Given the description of an element on the screen output the (x, y) to click on. 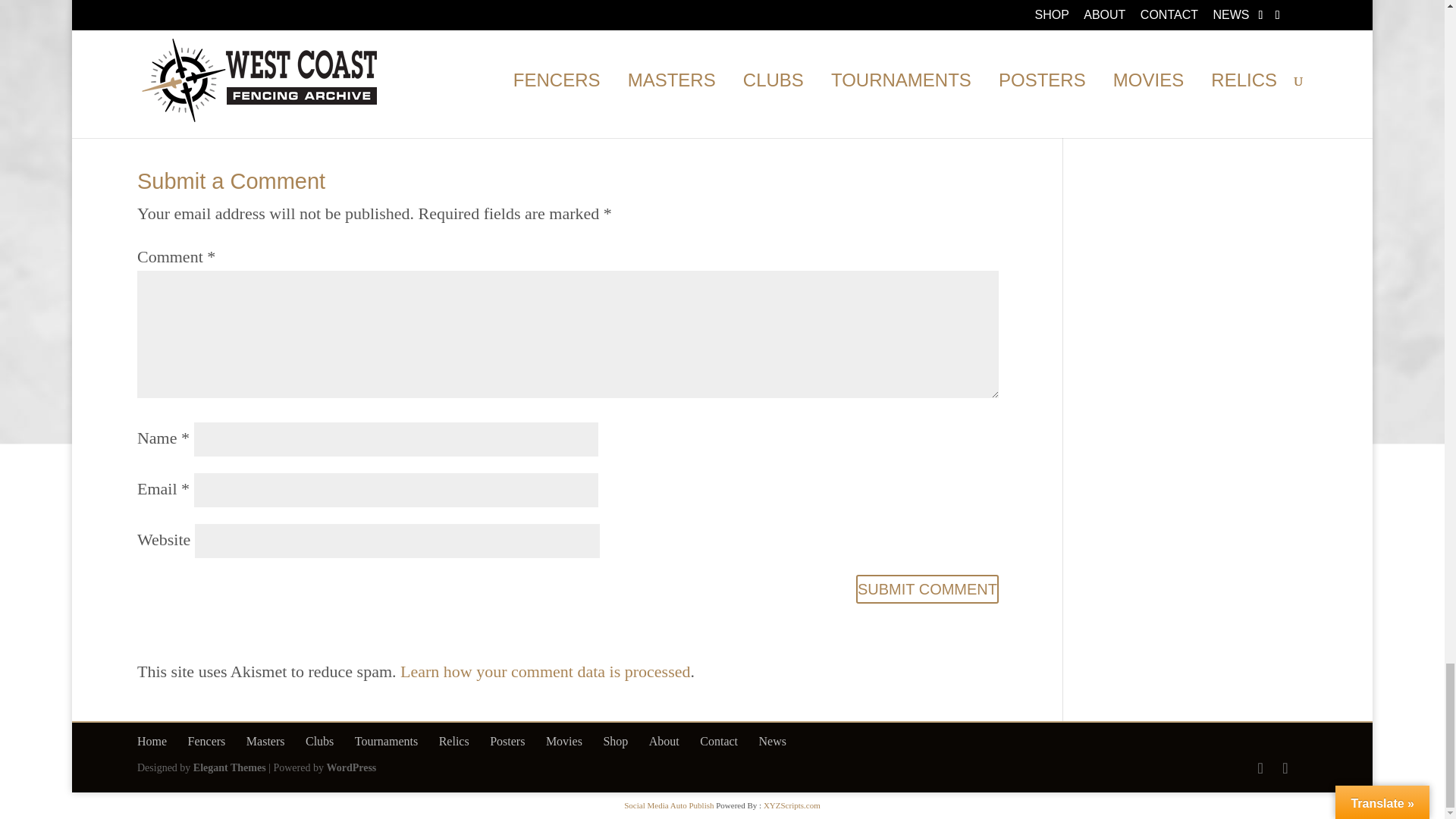
Gene Ching (243, 70)
Submit Comment (927, 588)
Reply (978, 74)
Learn how your comment data is processed (545, 670)
Submit Comment (927, 588)
Premium WordPress Themes (229, 767)
Social Media Auto Publish (668, 804)
